Given the description of an element on the screen output the (x, y) to click on. 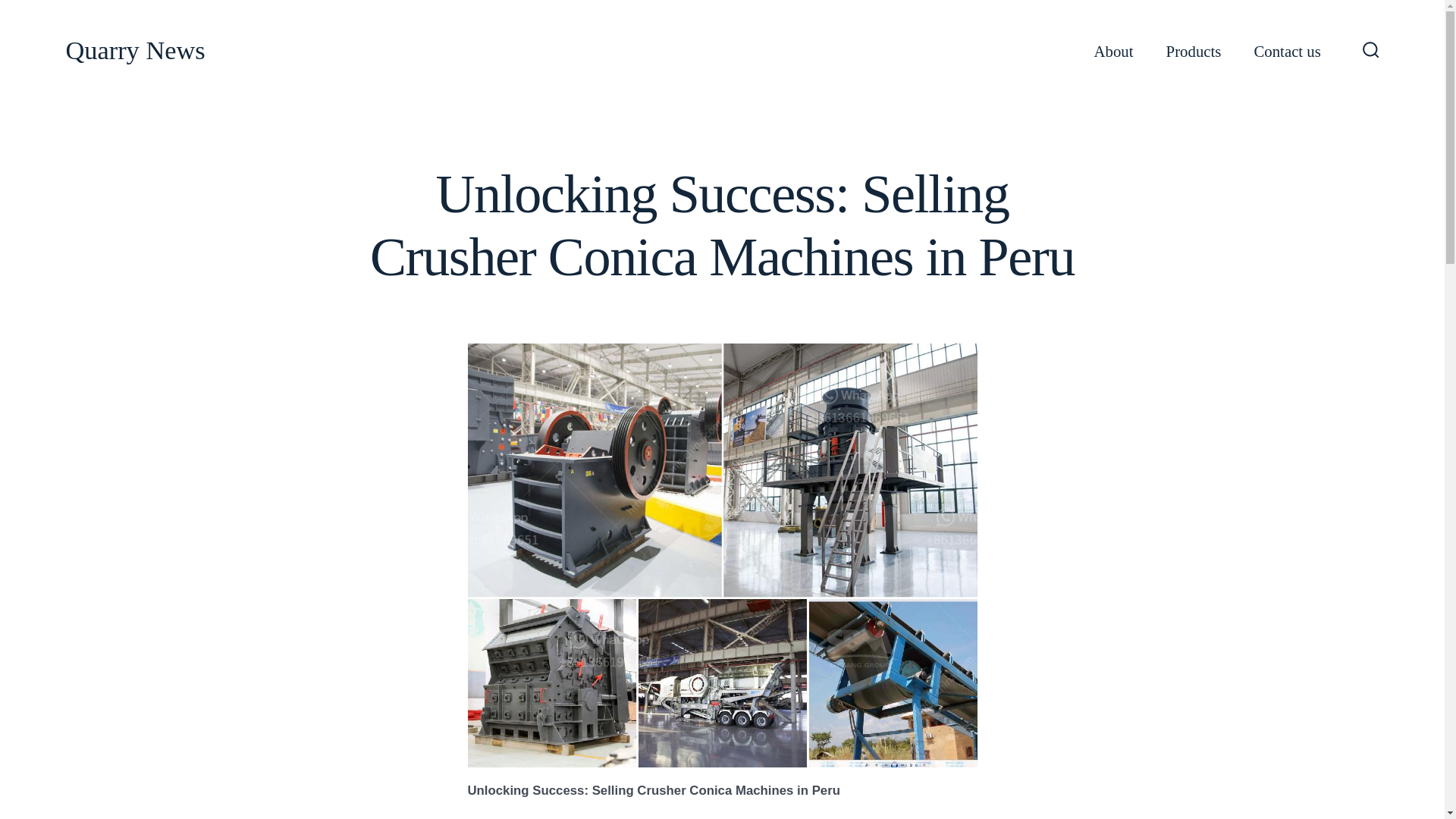
Contact us (1286, 51)
Quarry News (135, 51)
About (1114, 51)
Products (1193, 51)
Search Toggle (1371, 50)
